Given the description of an element on the screen output the (x, y) to click on. 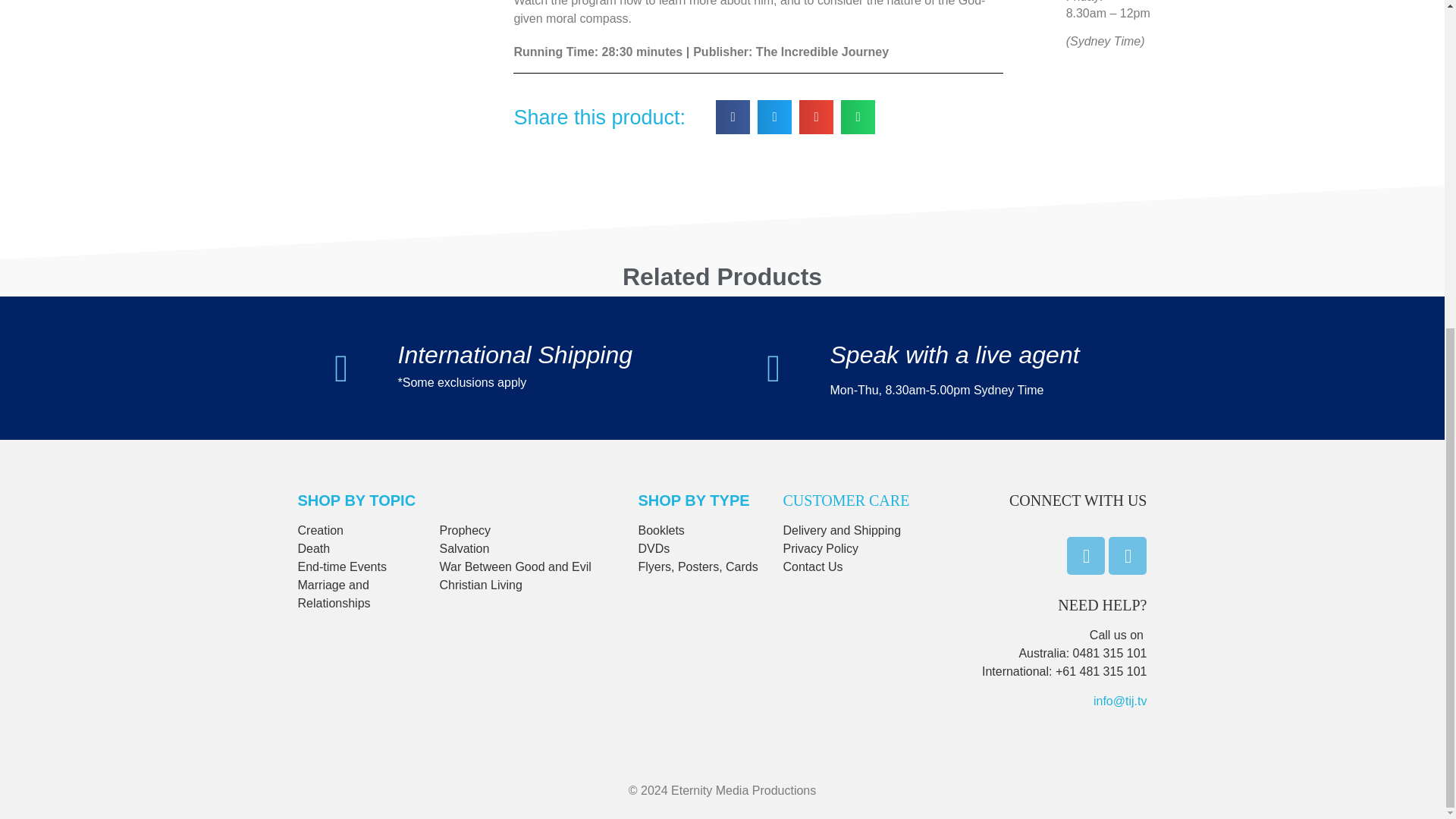
DVDs (653, 548)
International Shipping (514, 354)
Salvation (464, 548)
Booklets (660, 530)
Speak with a live agent (953, 354)
Death (313, 548)
Creation (319, 530)
End-time Events (341, 566)
Privacy Policy (821, 548)
Flyers, Posters, Cards (697, 566)
